Given the description of an element on the screen output the (x, y) to click on. 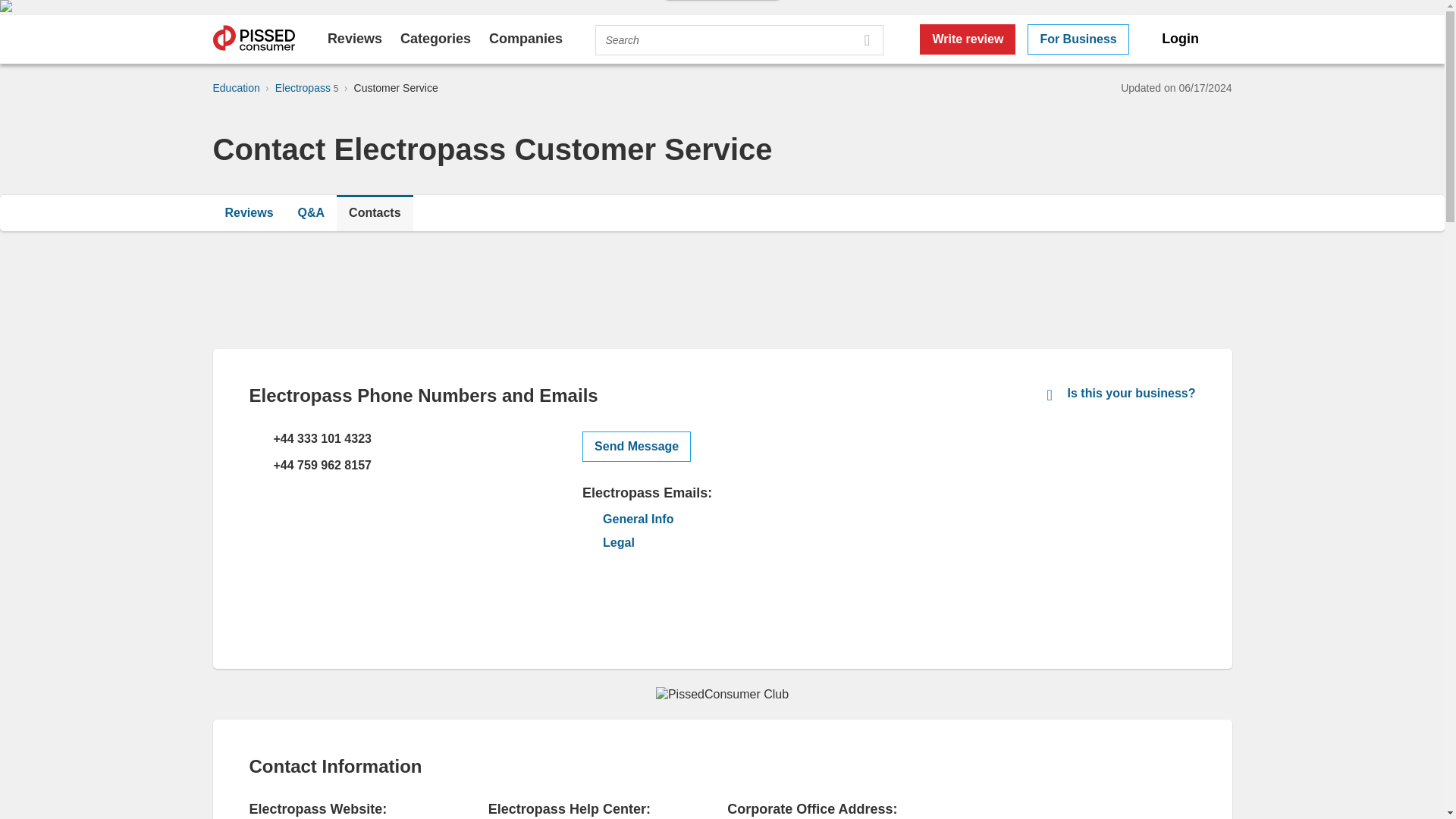
Electropass reviews (248, 212)
Reviews (248, 212)
PissedConsumer (253, 39)
Reviews (354, 38)
Categories (435, 38)
Advertisement (1081, 537)
Companies (525, 38)
Electropass (304, 87)
Education (235, 87)
Write review (967, 39)
